Given the description of an element on the screen output the (x, y) to click on. 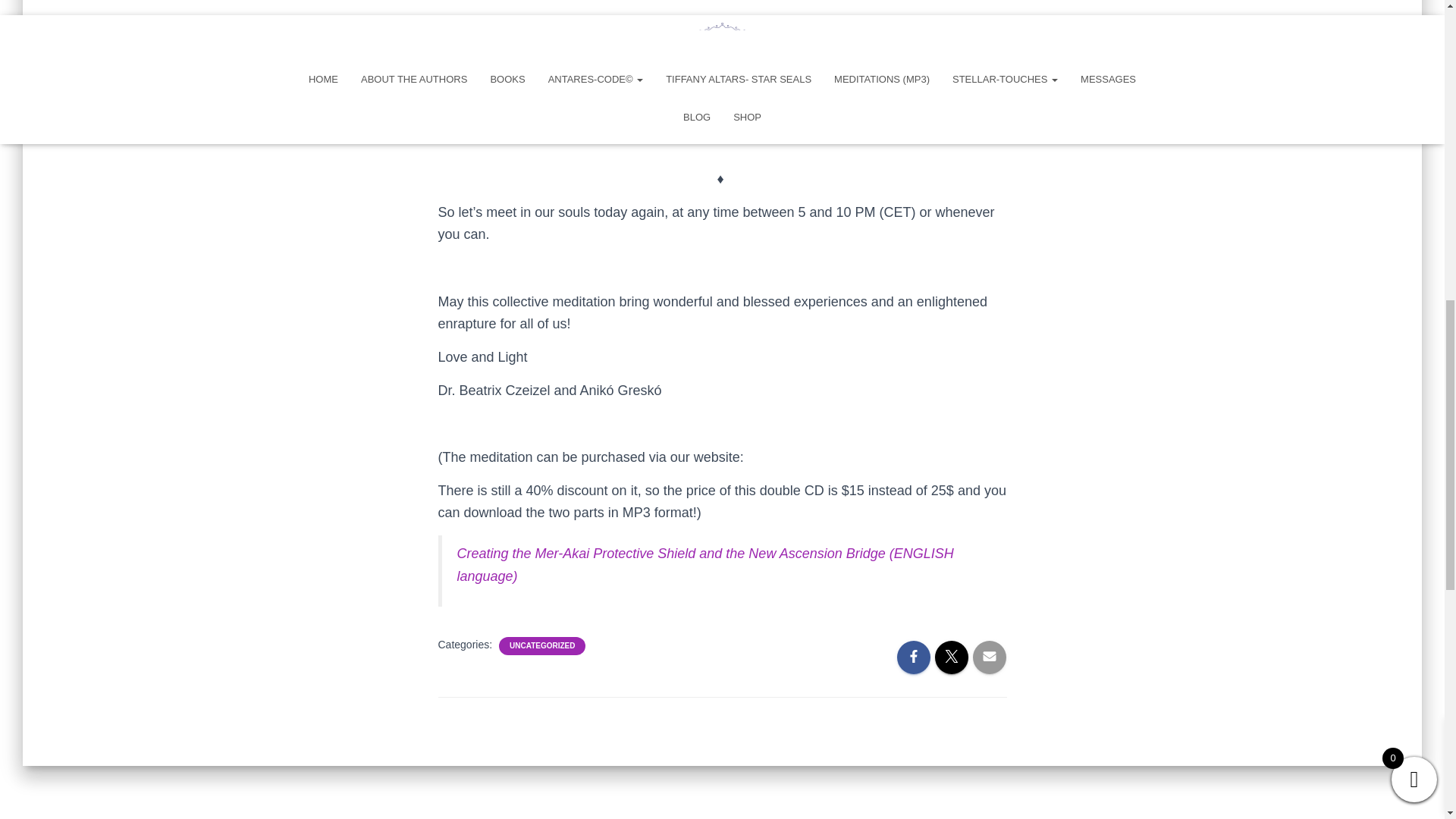
UNCATEGORIZED (542, 645)
